Given the description of an element on the screen output the (x, y) to click on. 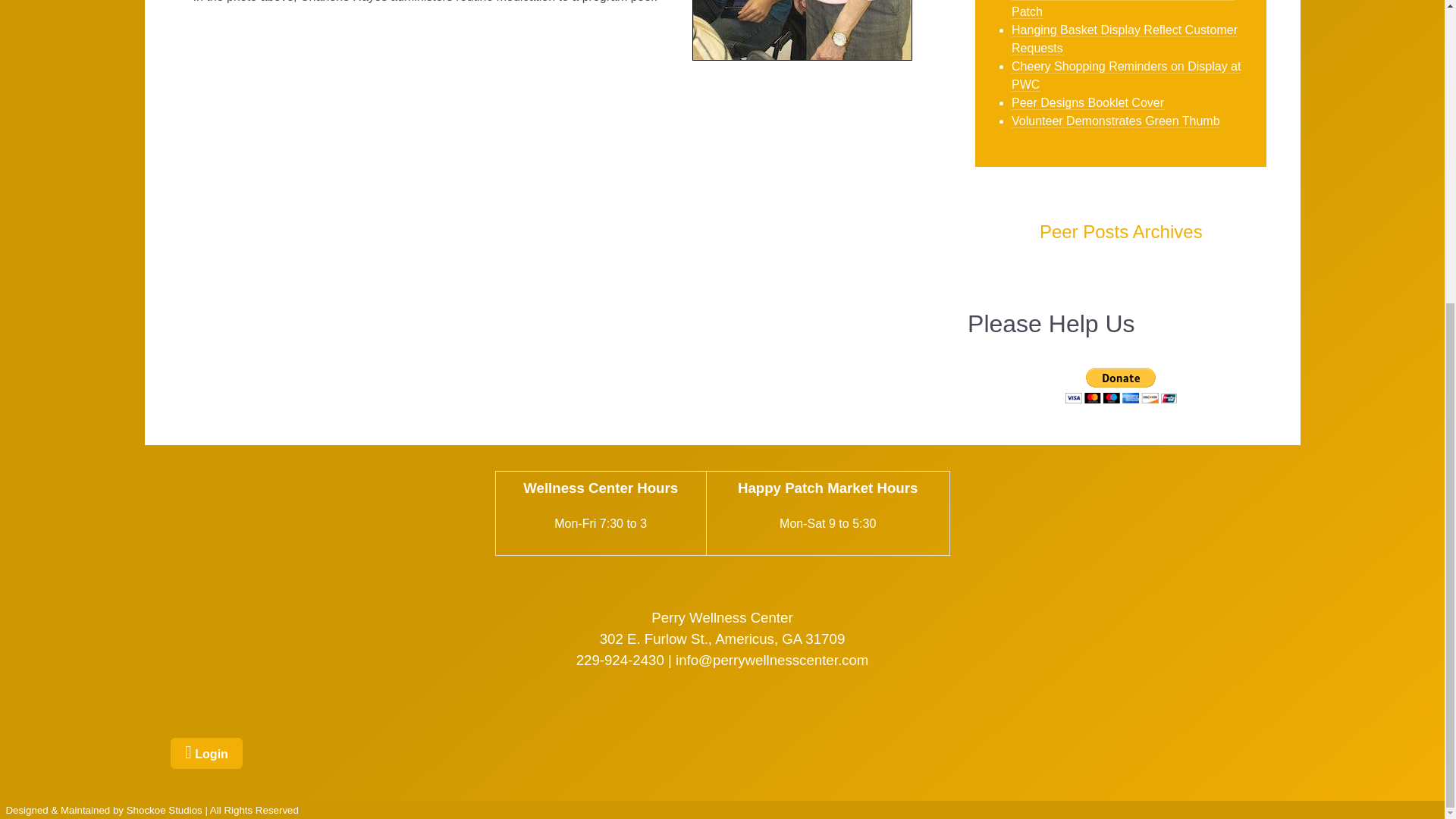
Shockoe Studios (164, 809)
Peer Designs Booklet Cover (1087, 102)
Hanging Basket Display Reflect Customer Requests (1124, 38)
Cheery Shopping Reminders on Display at PWC (1125, 74)
229-924-2430 (619, 659)
Volunteer Demonstrates Green Thumb (1115, 120)
Fresh Local Tomatoes Available at Happy Patch (1122, 9)
Login (206, 753)
Login (206, 753)
Peer Posts Archives (1120, 231)
